Given the description of an element on the screen output the (x, y) to click on. 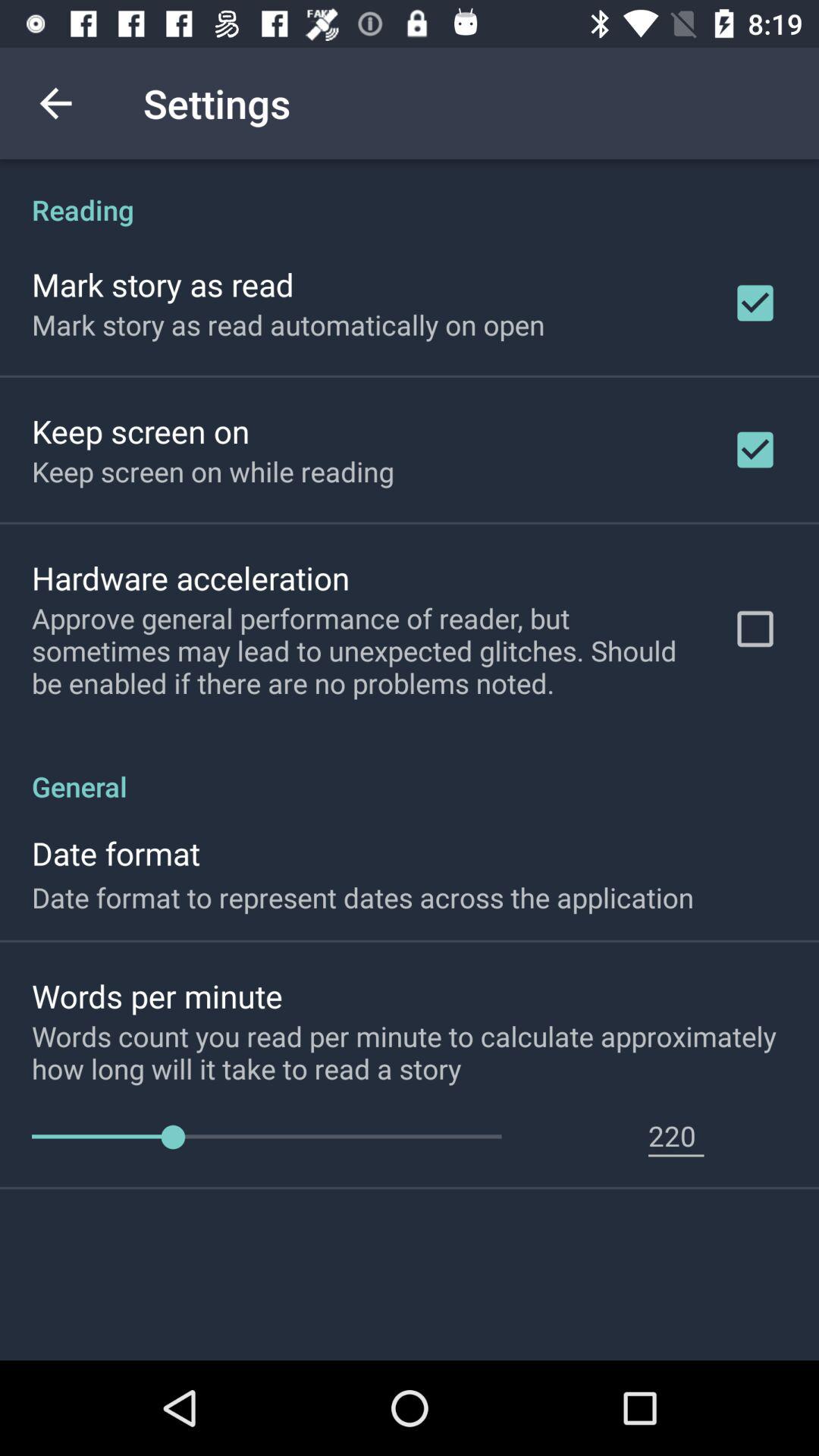
select icon below the words per minute (425, 1052)
